Given the description of an element on the screen output the (x, y) to click on. 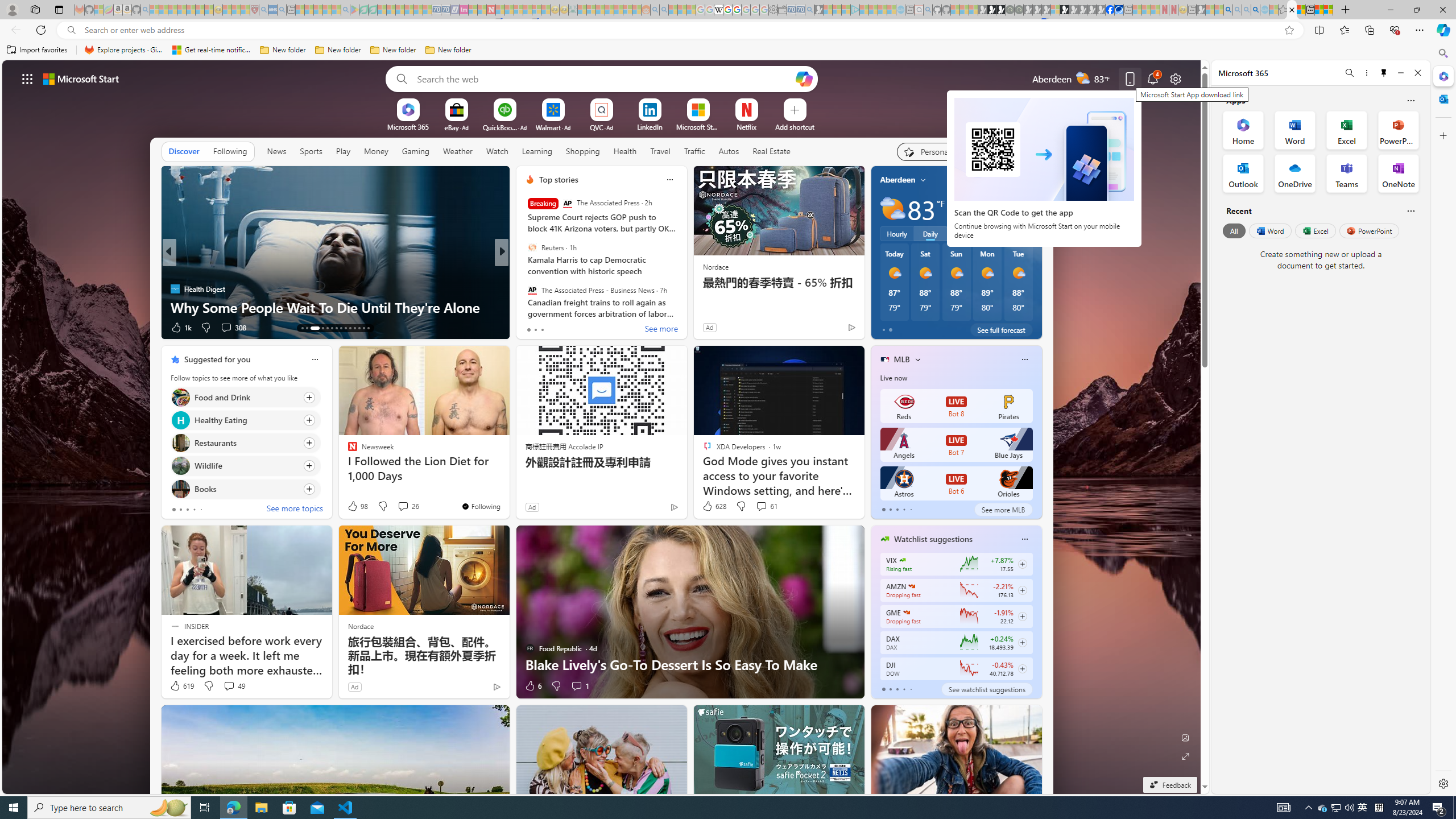
Angels LIVE Bot 7 Blue Jays (955, 444)
628 Like (713, 505)
New folder (448, 49)
View comments 13 Comment (585, 327)
AutomationID: tab-26 (368, 328)
Microsoft start (81, 78)
